Given the description of an element on the screen output the (x, y) to click on. 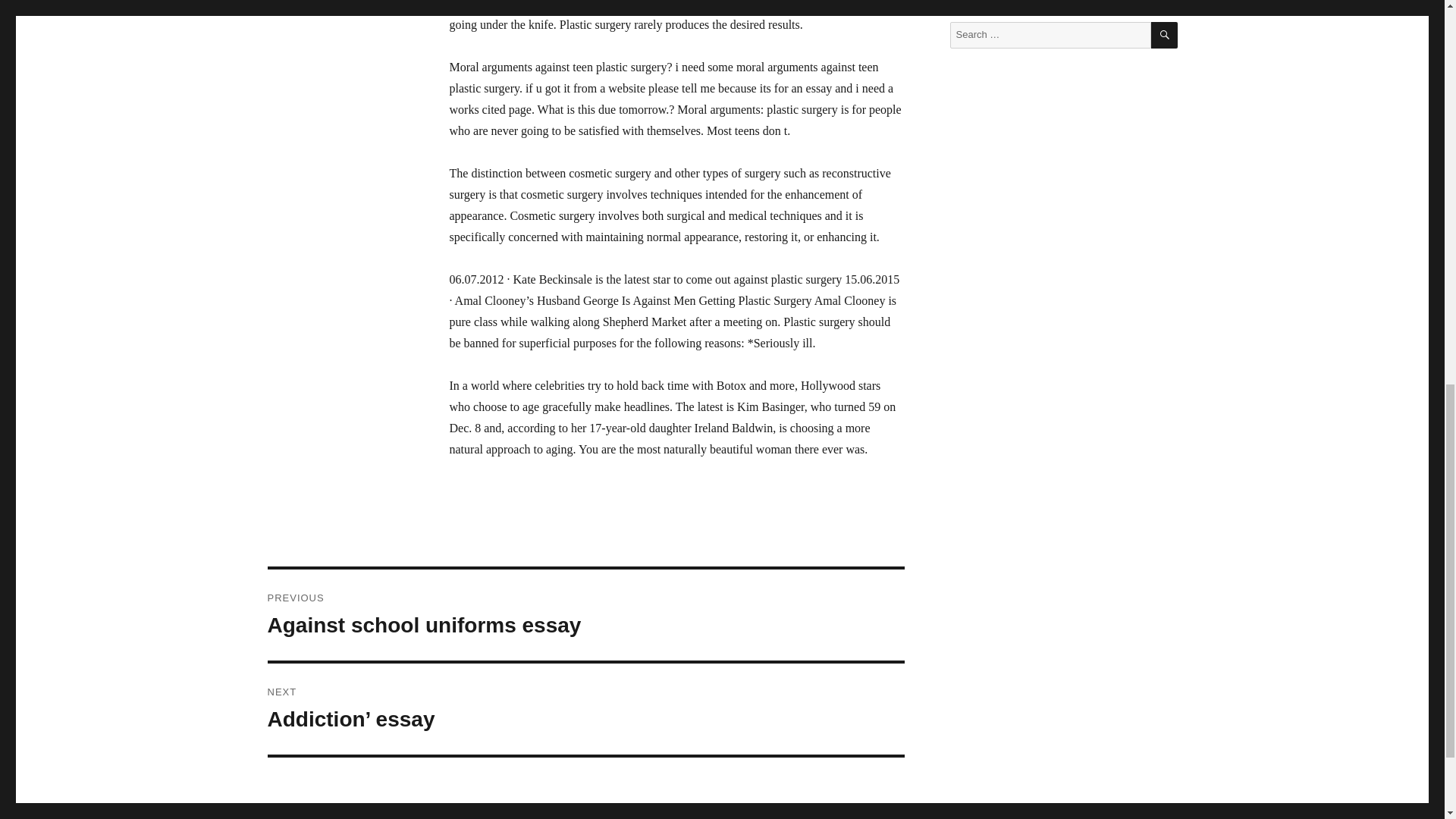
SEARCH (585, 614)
